Given the description of an element on the screen output the (x, y) to click on. 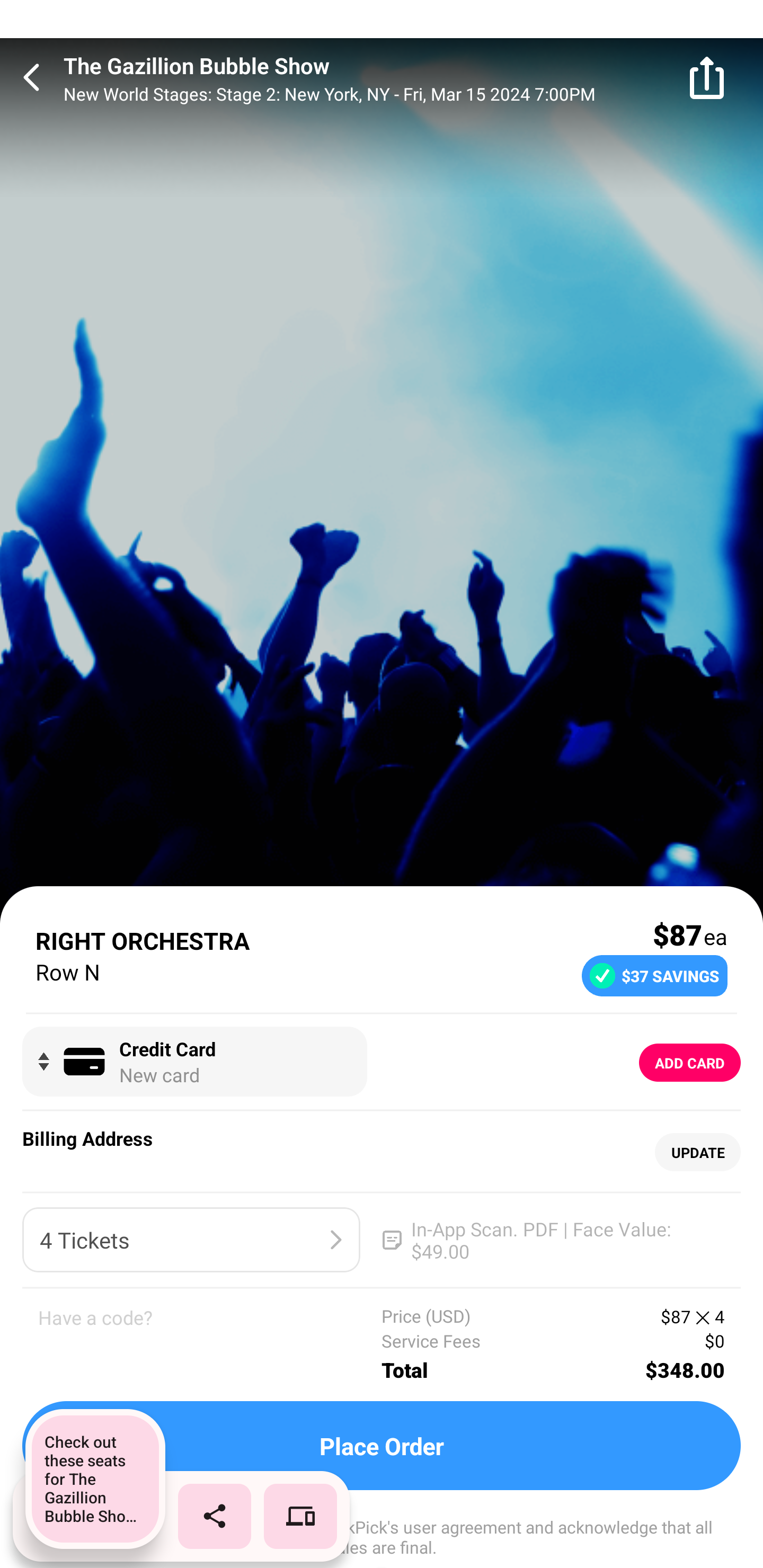
$37 SAVINGS (654, 974)
Credit Card, New card Credit Card New card (194, 1061)
ADD CARD (689, 1062)
UPDATE (697, 1152)
4 Tickets (191, 1239)
In-App Scan. PDF | Face Value: $49.00 (552, 1239)
Have a code? (209, 1344)
Place Order (381, 1445)
